Given the description of an element on the screen output the (x, y) to click on. 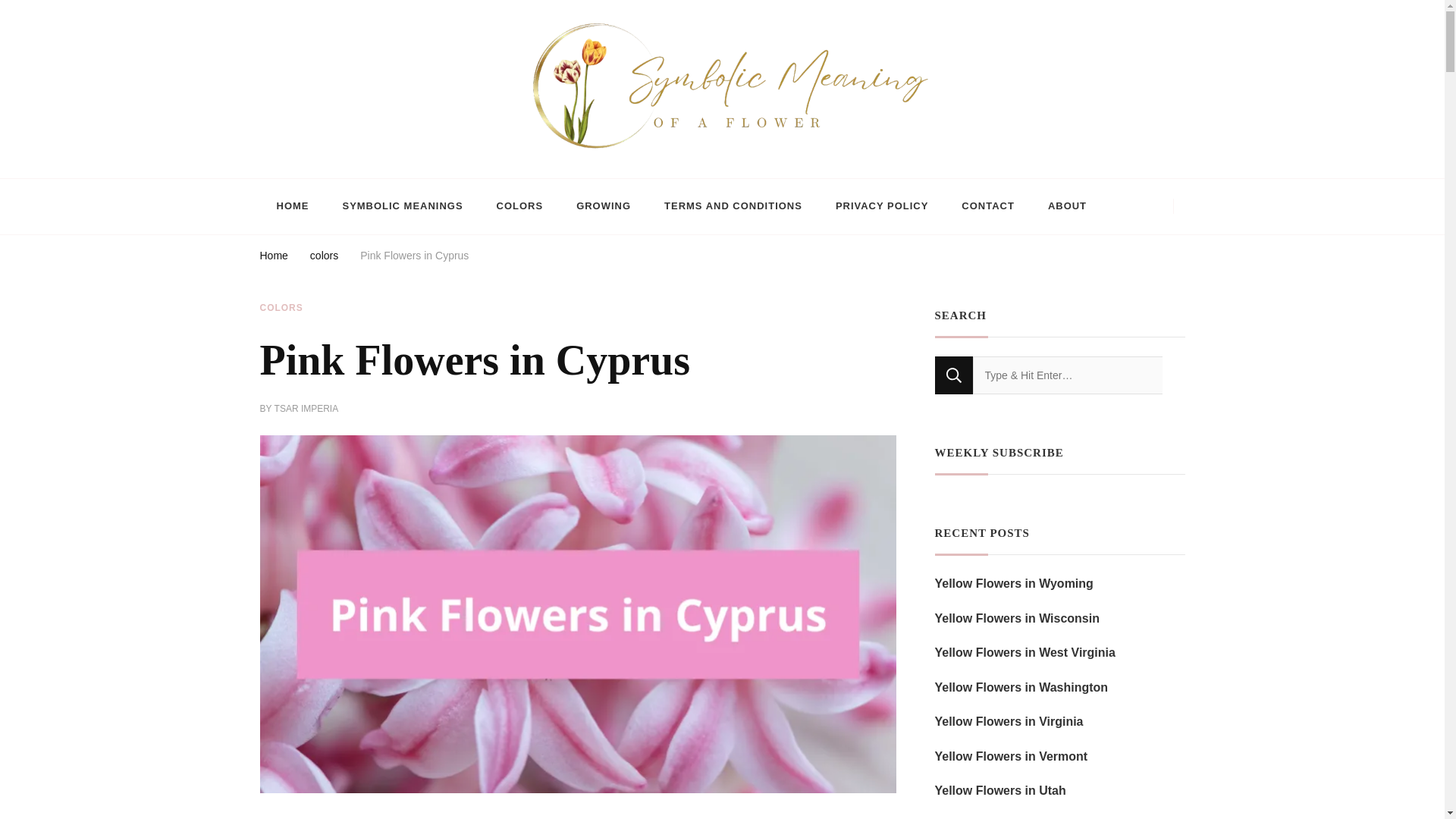
SYMBOLIC MEANINGS (401, 206)
CONTACT (987, 206)
TERMS AND CONDITIONS (732, 206)
Search (953, 374)
TSAR IMPERIA (307, 409)
Symbolic Meaning Of A Flower (411, 170)
COLORS (520, 206)
colors (323, 257)
ABOUT (1066, 206)
COLORS (280, 308)
